Given the description of an element on the screen output the (x, y) to click on. 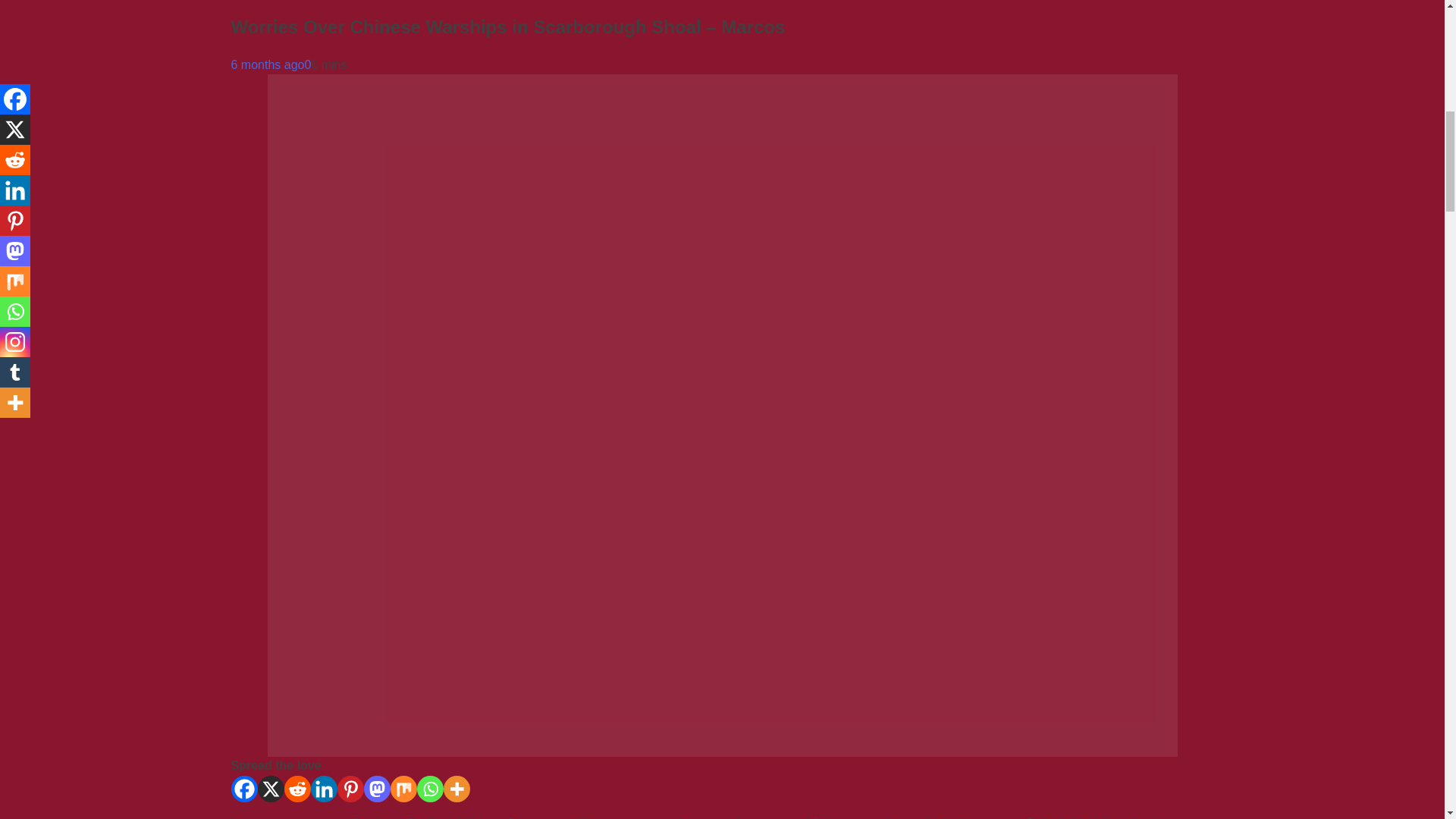
Facebook (243, 788)
Mastodon (377, 788)
Linkedin (324, 788)
Mix (403, 788)
Whatsapp (430, 788)
Pinterest (349, 788)
Reddit (296, 788)
X (270, 788)
